Given the description of an element on the screen output the (x, y) to click on. 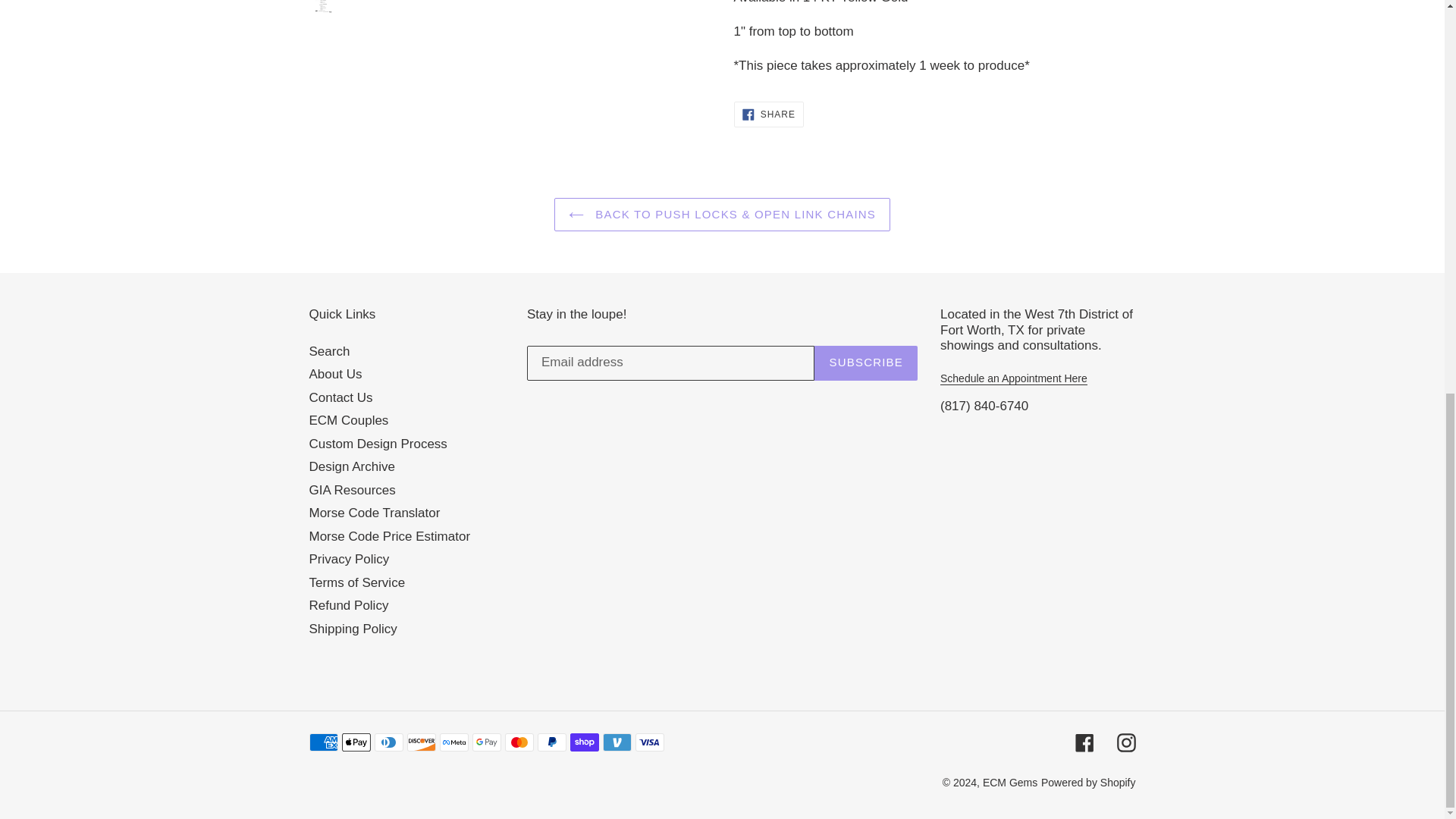
ECM Couples (348, 420)
About Us (768, 114)
Search (335, 373)
Contact Us (329, 350)
Design Consultation Scheduler (340, 397)
